Given the description of an element on the screen output the (x, y) to click on. 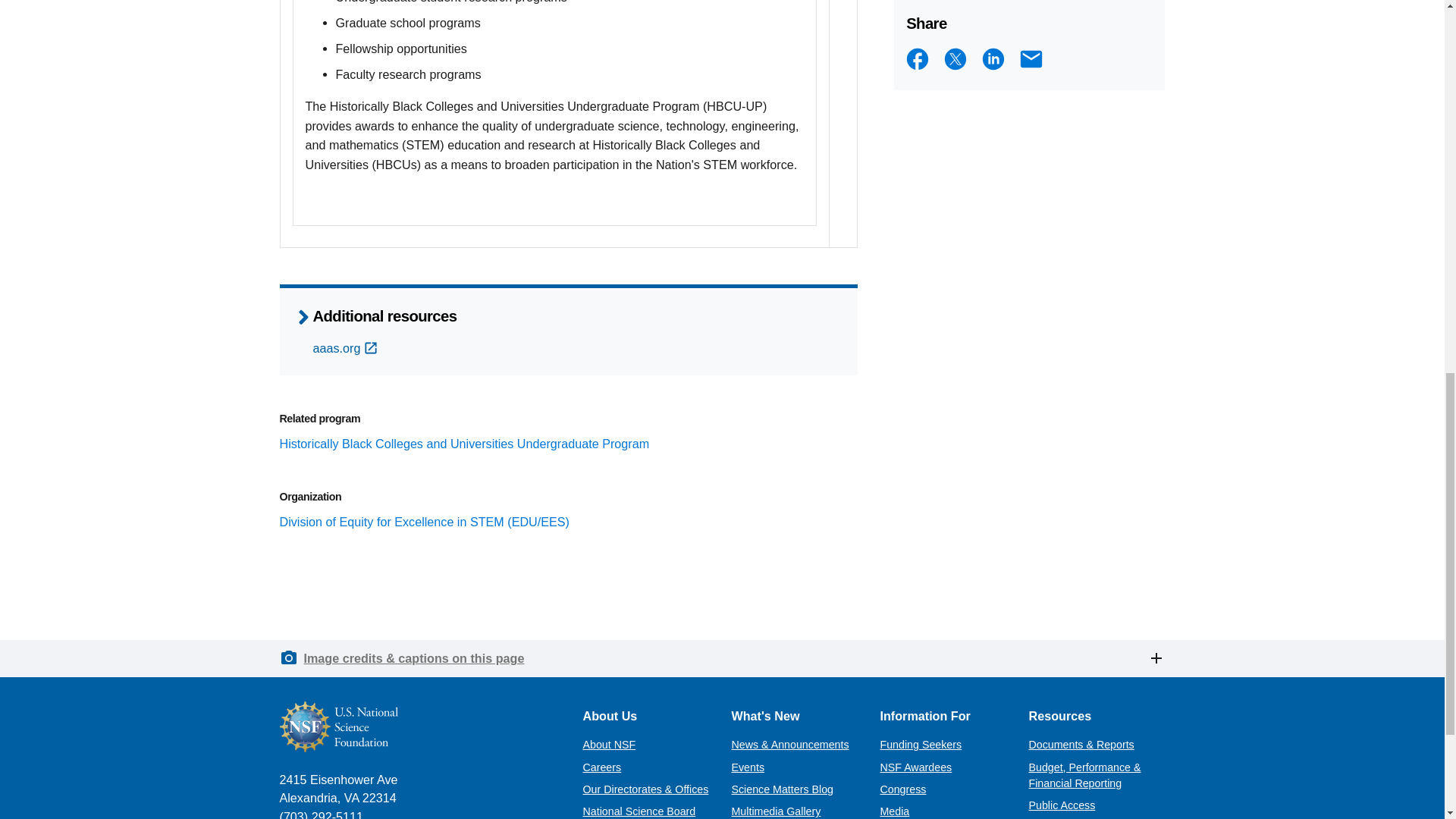
Facebook (917, 58)
NSF - National Science Foundation - Home (418, 726)
About NSF (608, 744)
LinkedIn (992, 58)
Email (1030, 58)
Careers (601, 767)
National Science Board (638, 811)
aaas.org (345, 347)
